Given the description of an element on the screen output the (x, y) to click on. 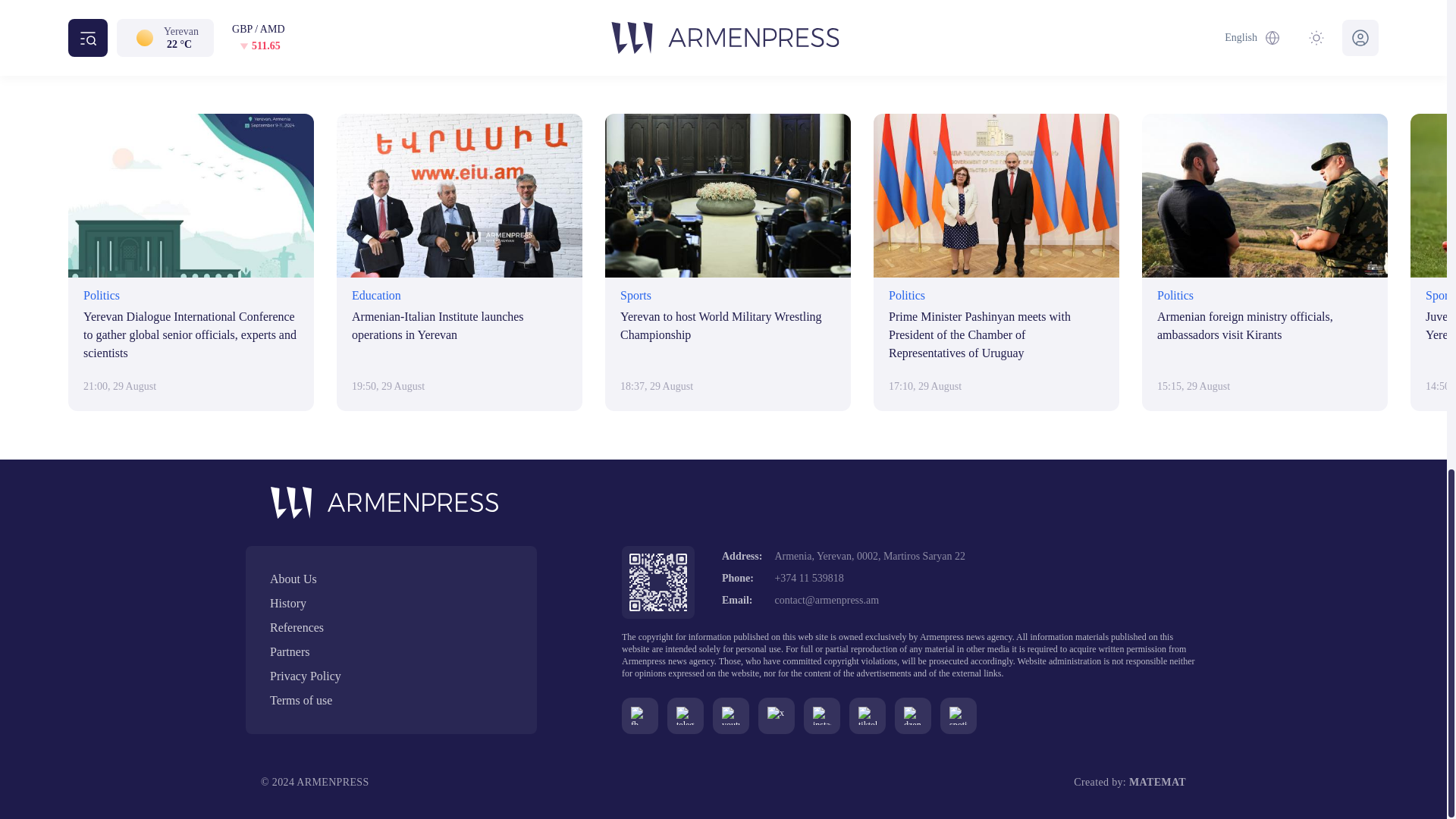
History (390, 603)
About Us (390, 579)
Armenia (656, 11)
Armenia (656, 11)
Partners (390, 651)
References (390, 628)
